Given the description of an element on the screen output the (x, y) to click on. 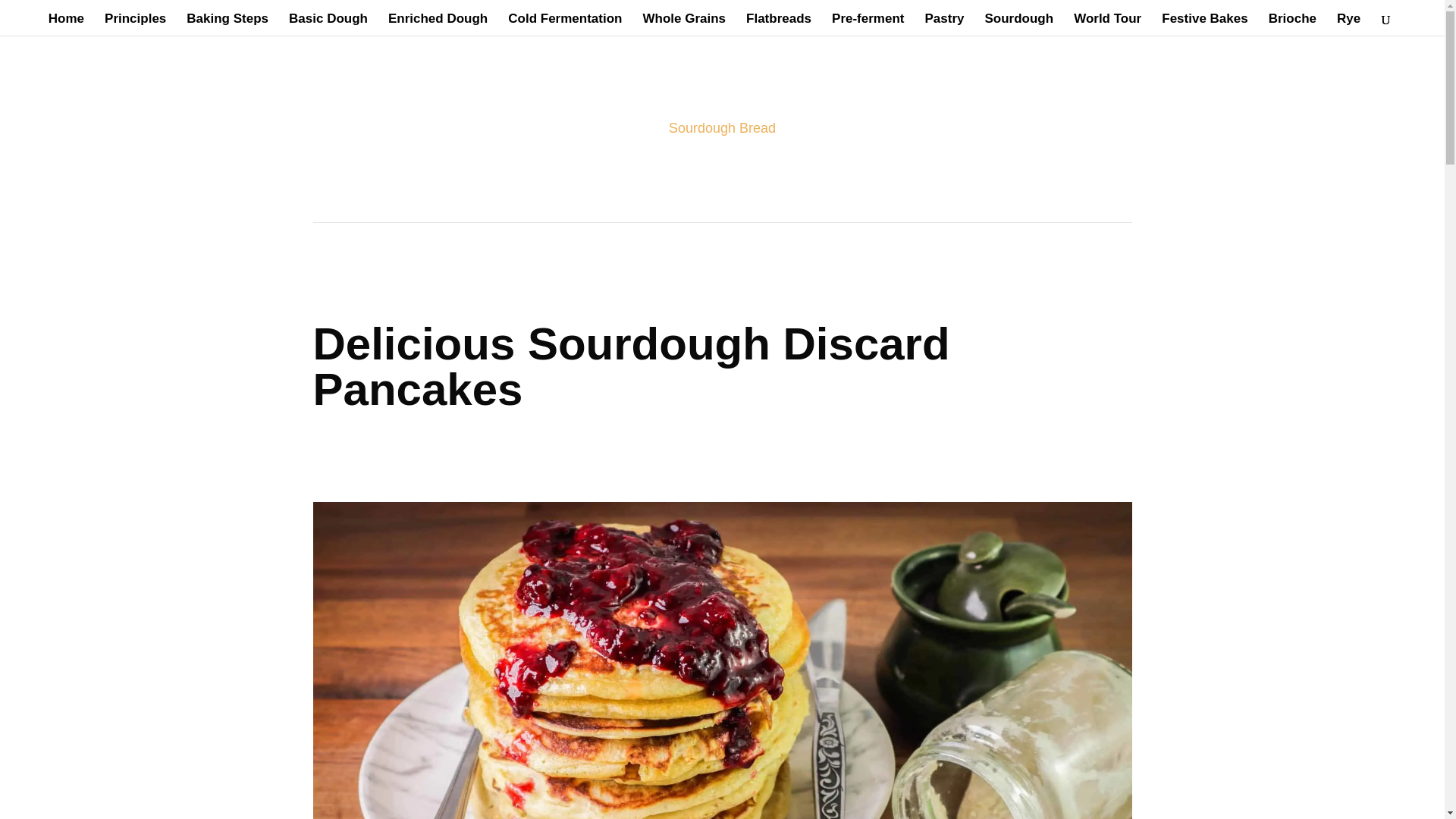
Pastry (943, 24)
Brioche (1292, 24)
World Tour (1107, 24)
Rye (1347, 24)
Sourdough Bread (722, 127)
Sourdough (1018, 24)
Festive Bakes (1204, 24)
Cold Fermentation (564, 24)
Basic Dough (328, 24)
Whole Grains (683, 24)
Home (66, 24)
Flatbreads (777, 24)
Pre-ferment (867, 24)
Enriched Dough (437, 24)
Baking Steps (226, 24)
